Given the description of an element on the screen output the (x, y) to click on. 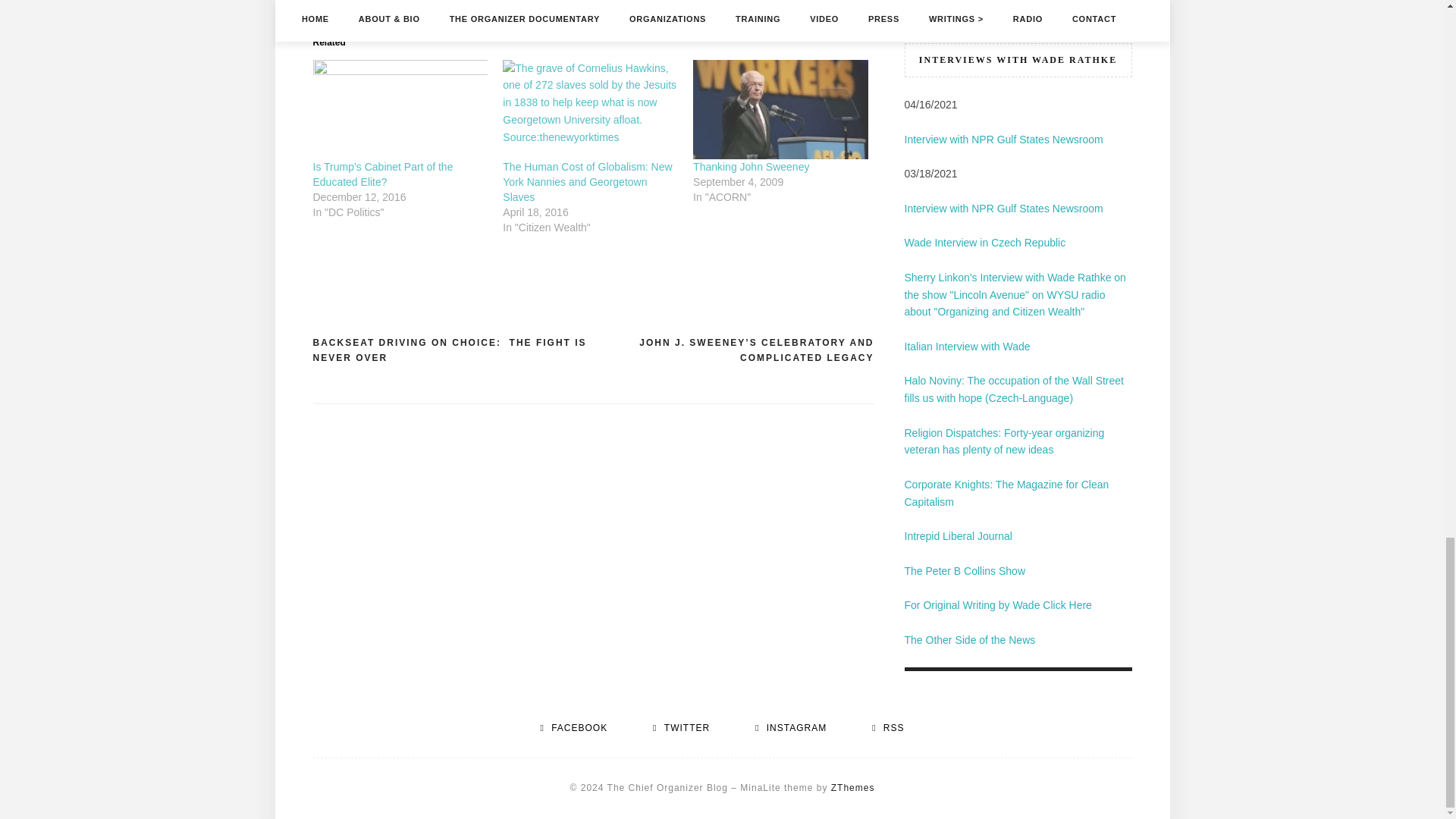
Thanking John Sweeney (751, 166)
